Given the description of an element on the screen output the (x, y) to click on. 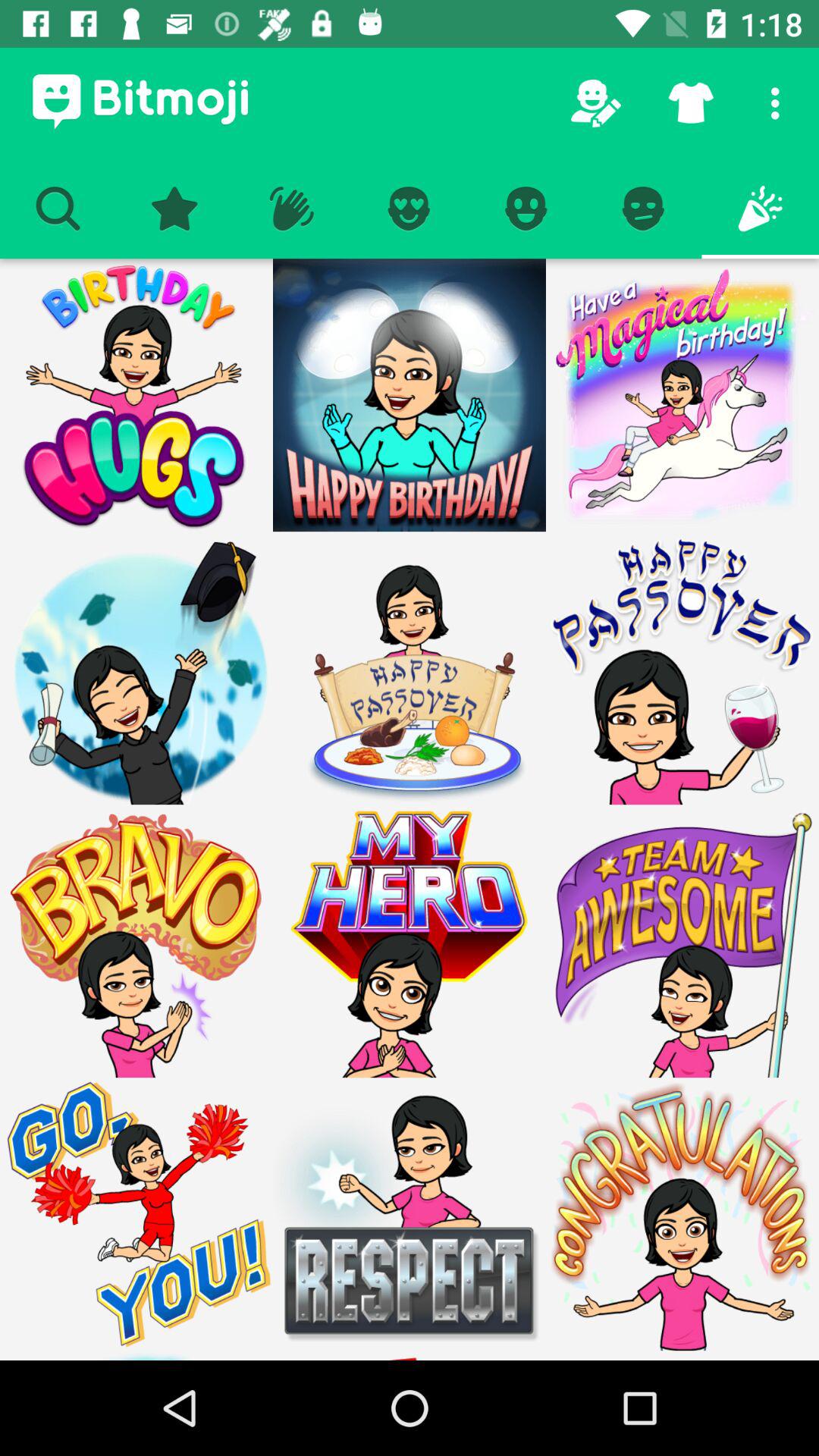
choose this bitmoji (409, 940)
